Given the description of an element on the screen output the (x, y) to click on. 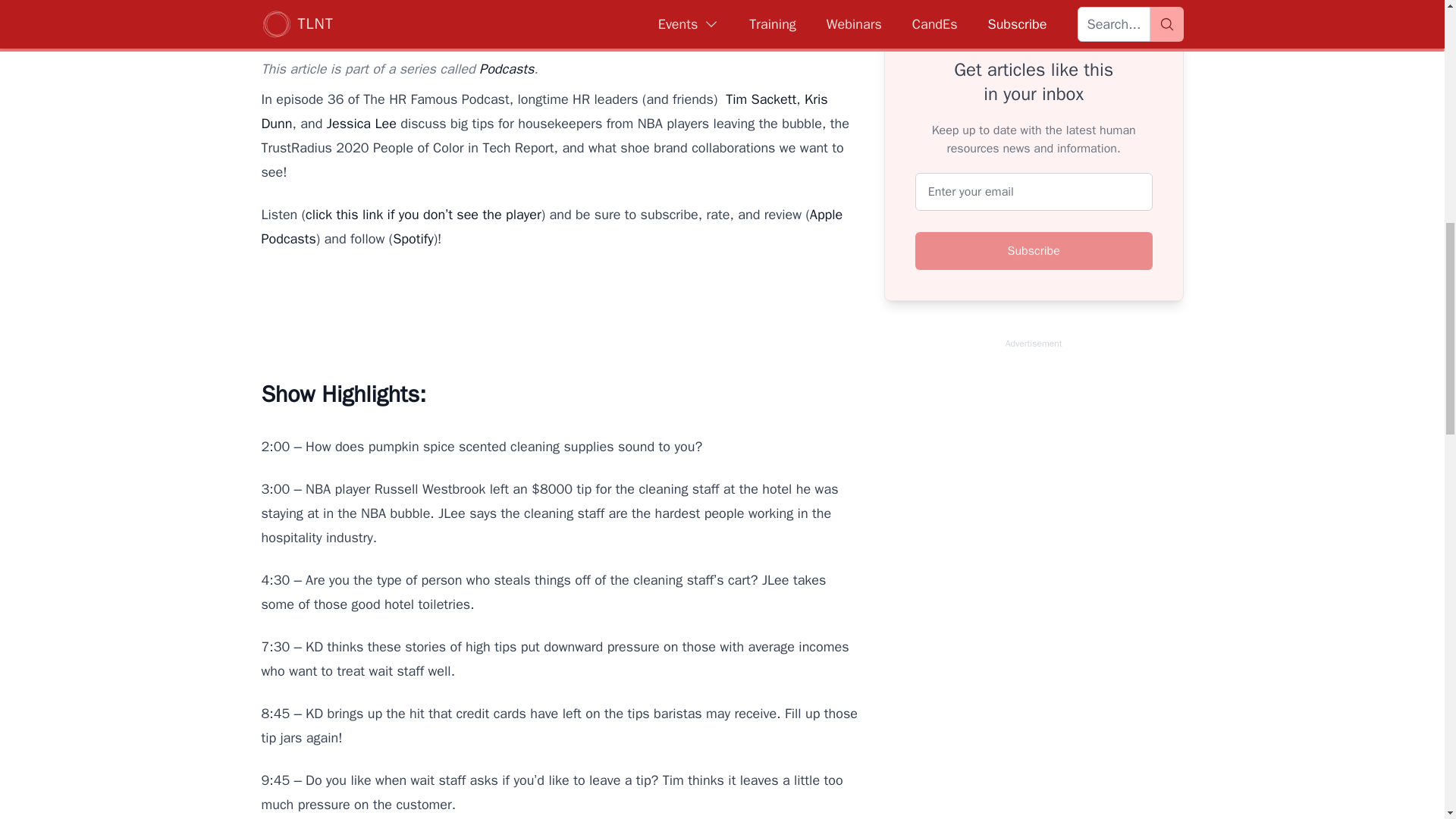
Apple Podcasts (551, 226)
Tim Sackett (760, 98)
Podcasts (506, 68)
Spotify (413, 238)
Kris Dunn (543, 110)
Jessica Lee (361, 123)
